Given the description of an element on the screen output the (x, y) to click on. 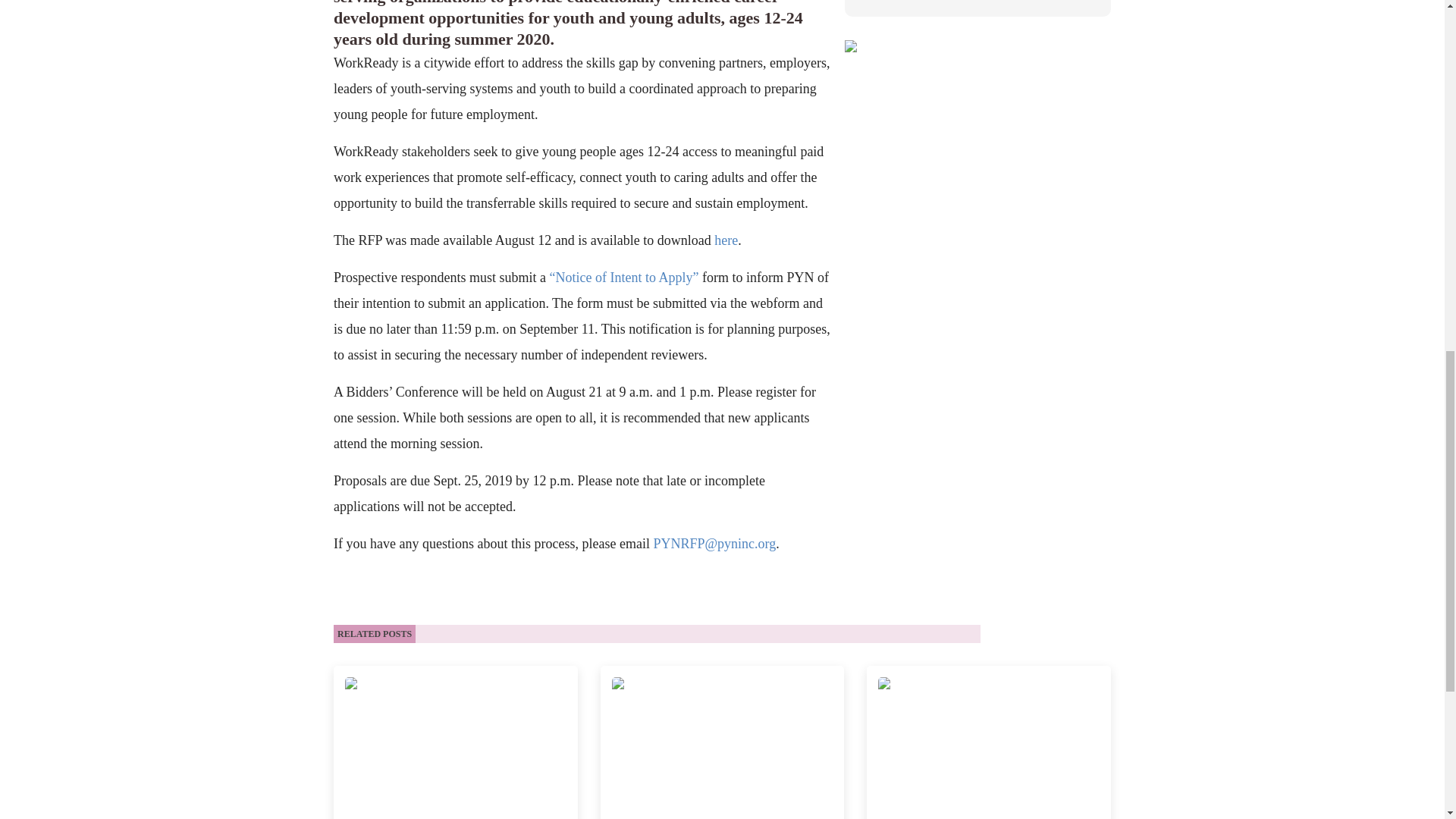
here (726, 240)
